Given the description of an element on the screen output the (x, y) to click on. 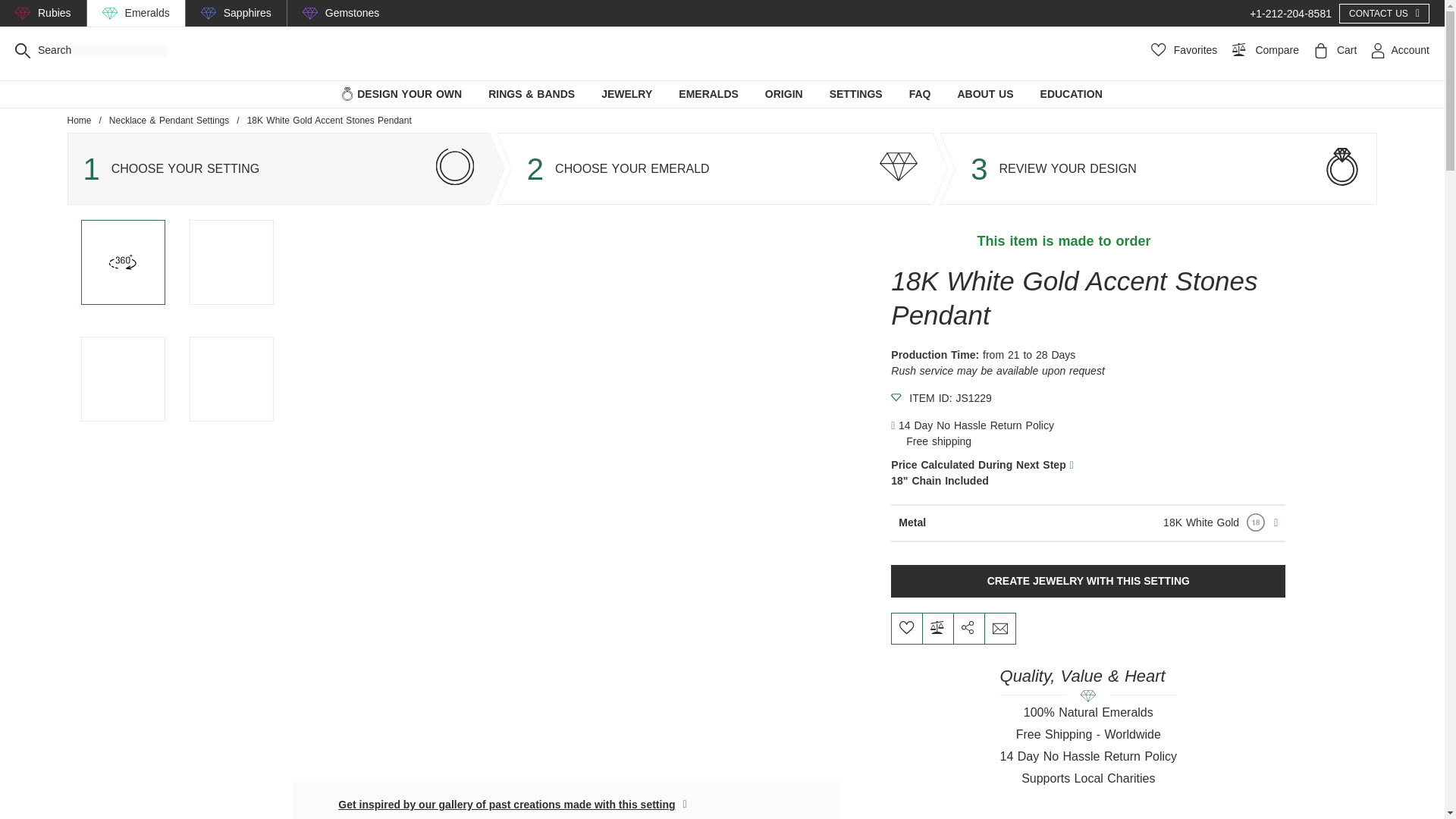
Step Review (1342, 166)
Compare (1261, 50)
Cart (1331, 50)
Step Stone (898, 166)
Step Setting (454, 166)
Rubies (54, 12)
Sapphires (247, 12)
Search (22, 50)
Gemstones (352, 12)
Favorites (1184, 50)
